Given the description of an element on the screen output the (x, y) to click on. 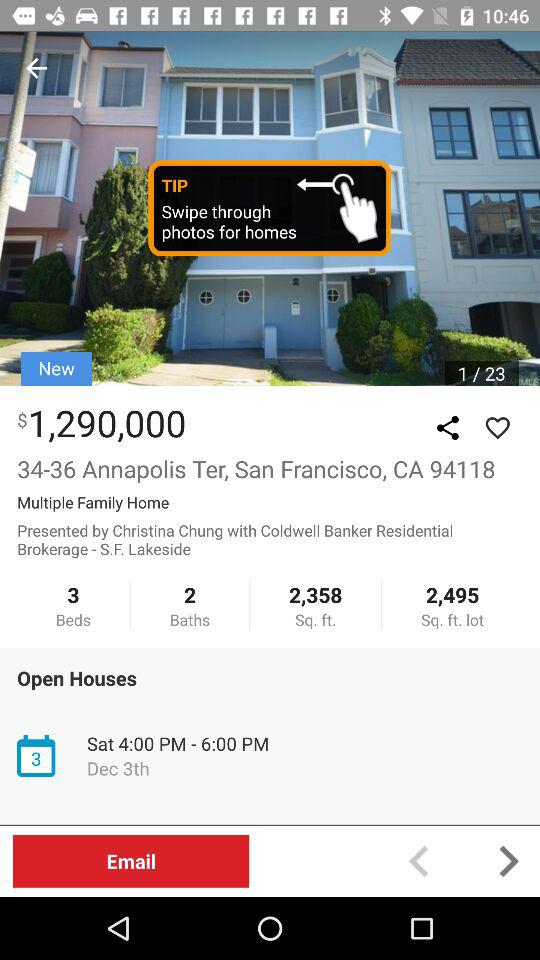
preview button (418, 860)
